Given the description of an element on the screen output the (x, y) to click on. 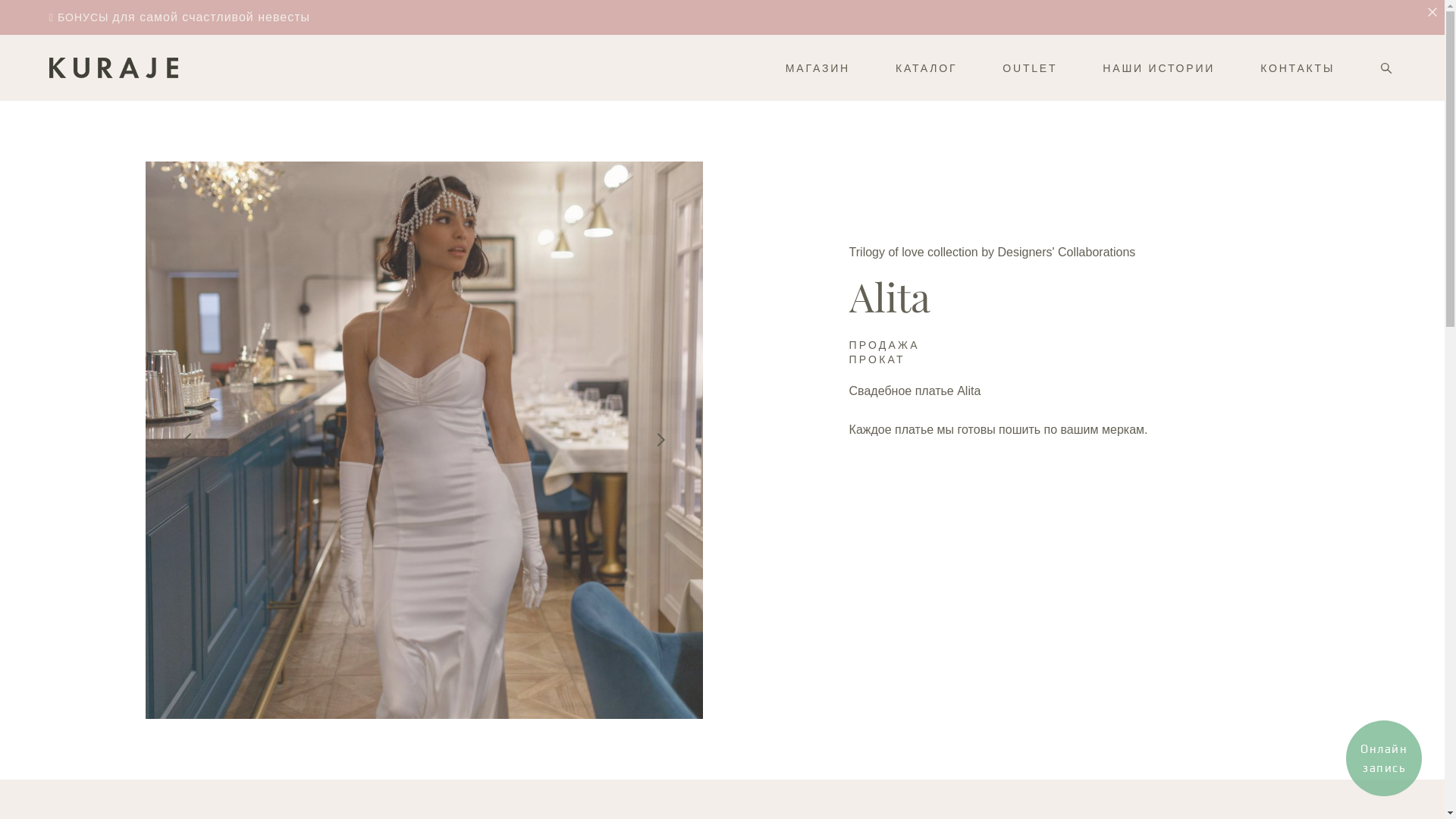
OUTLET Element type: text (1029, 68)
Designers' Collaborations Element type: text (1066, 251)
 collection Element type: text (951, 251)
